Given the description of an element on the screen output the (x, y) to click on. 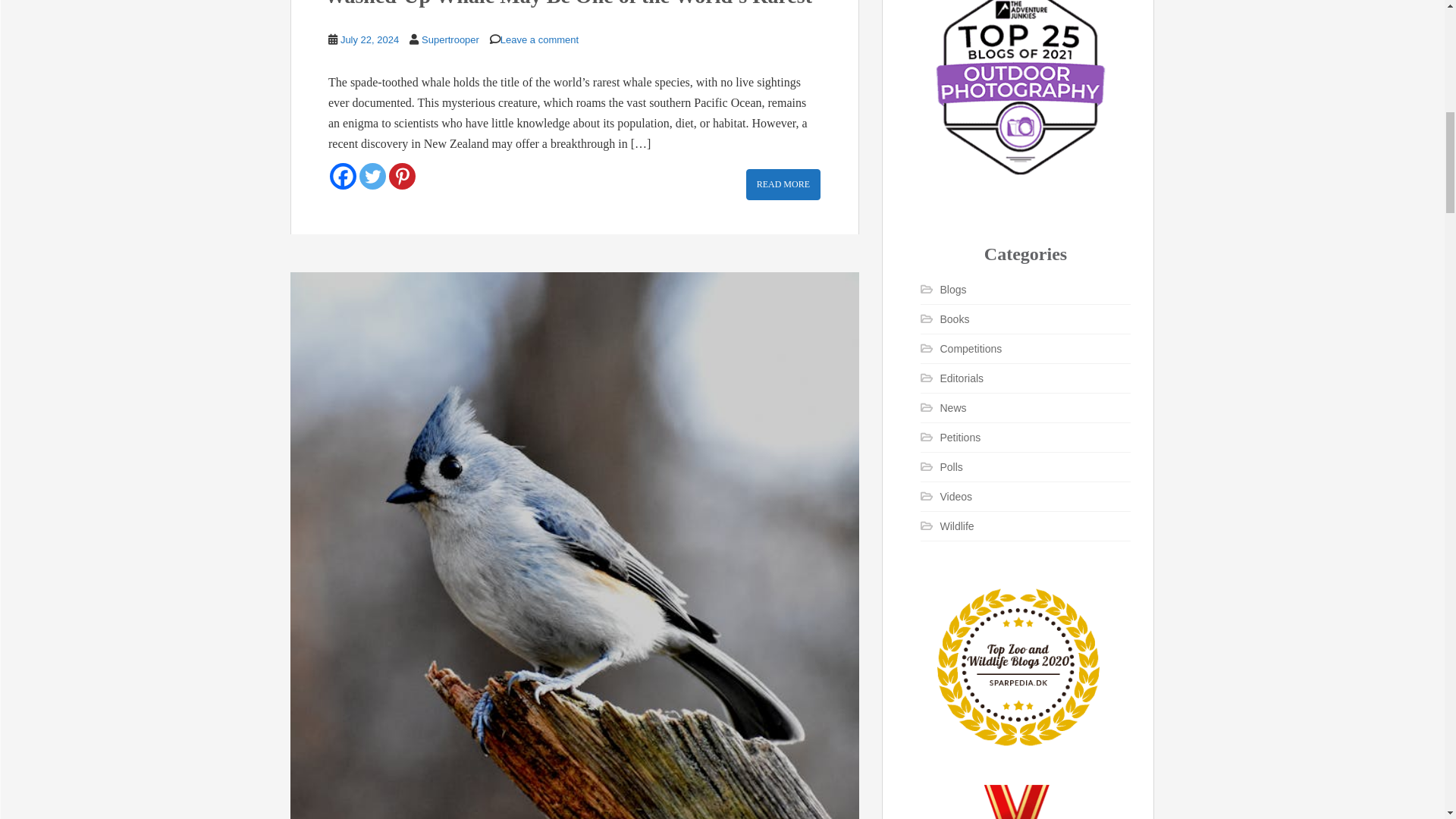
READ MORE (783, 183)
Facebook (343, 175)
Pinterest (401, 175)
Leave a comment (539, 39)
July 22, 2024 (369, 39)
Supertrooper (450, 39)
Twitter (372, 175)
